Given the description of an element on the screen output the (x, y) to click on. 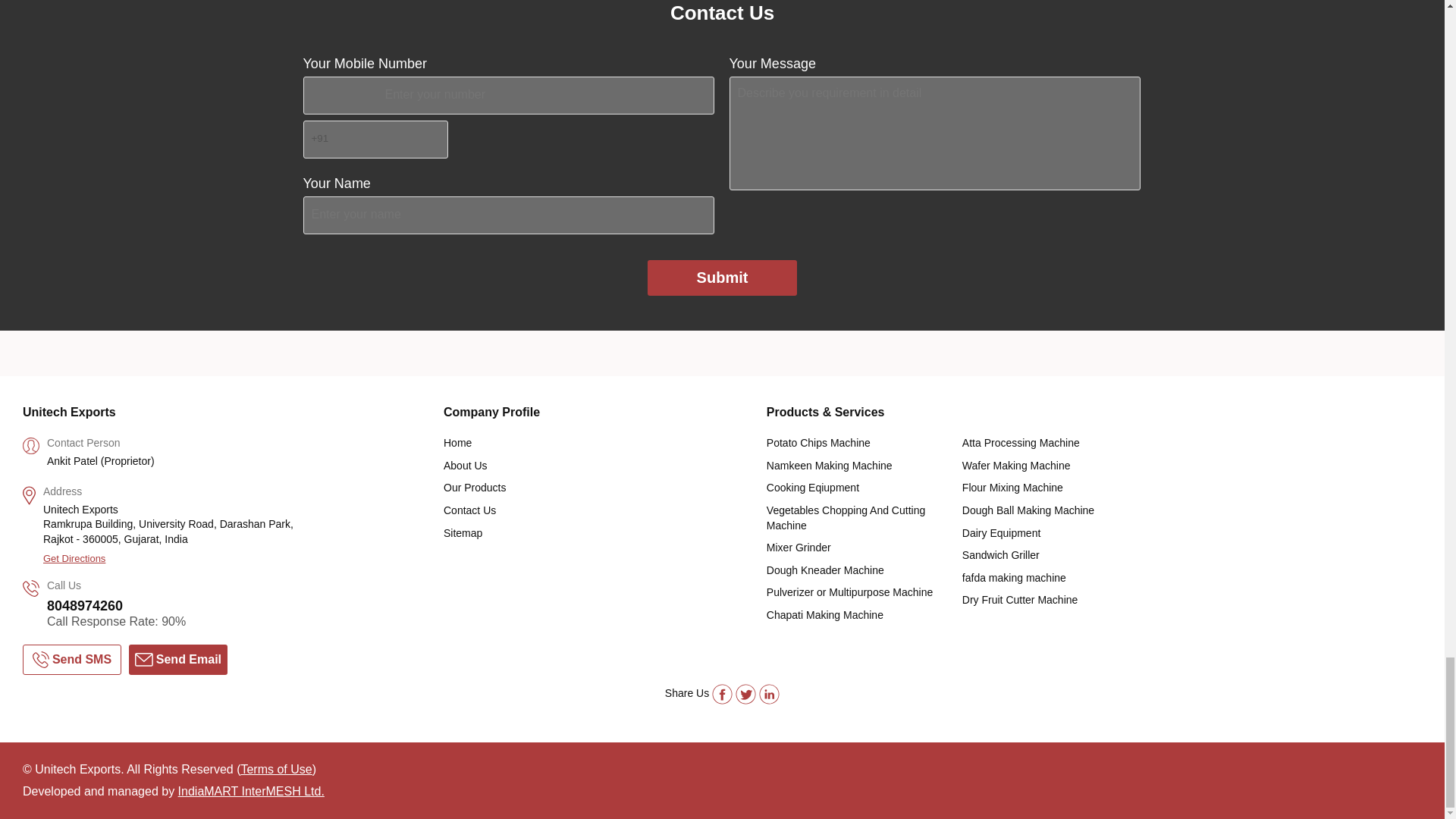
Submit (722, 277)
